Given the description of an element on the screen output the (x, y) to click on. 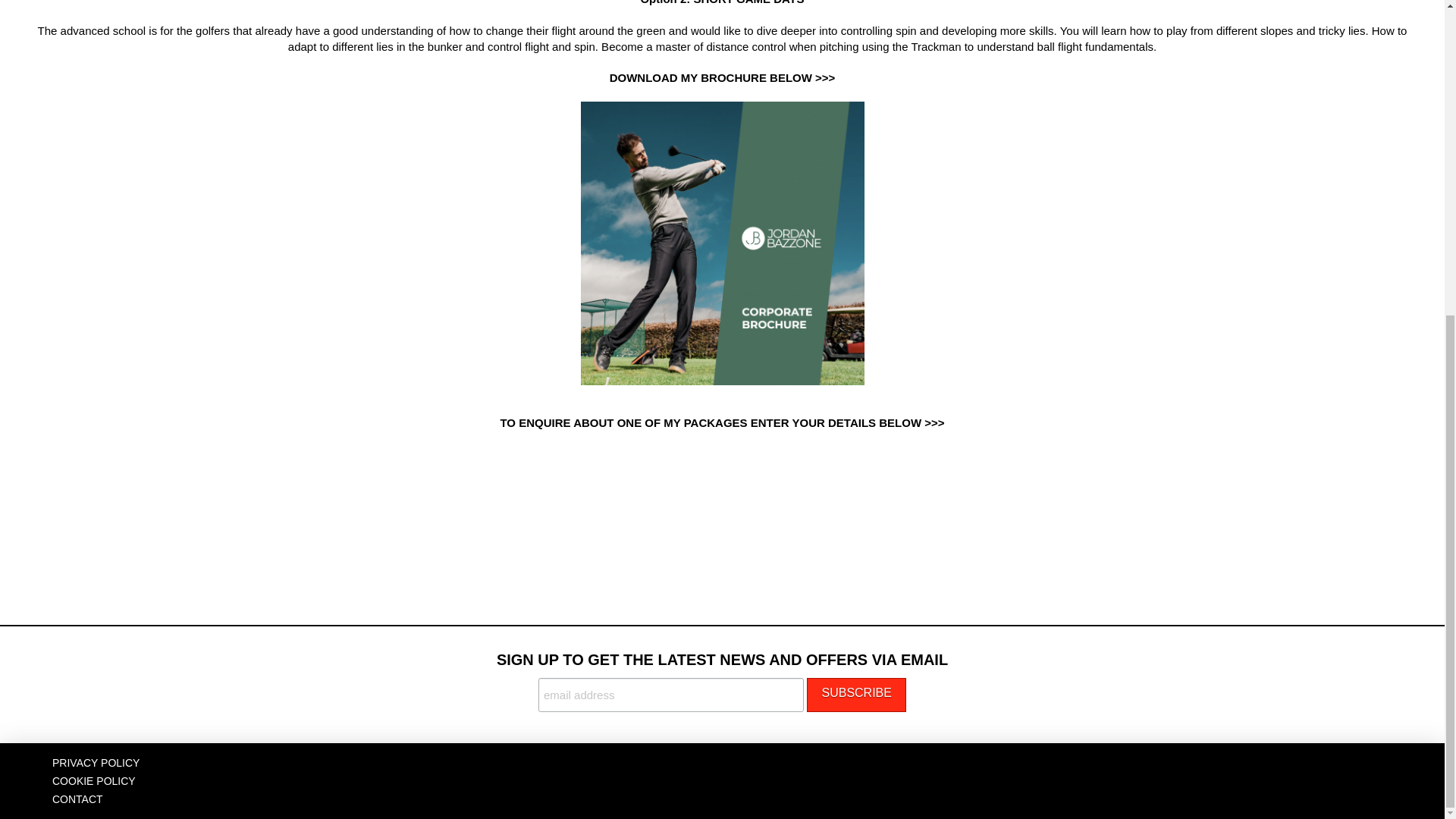
COOKIE POLICY (93, 781)
SUBSCRIBE (855, 694)
PRIVACY POLICY (95, 762)
SUBSCRIBE (855, 694)
CONTACT (77, 799)
